Given the description of an element on the screen output the (x, y) to click on. 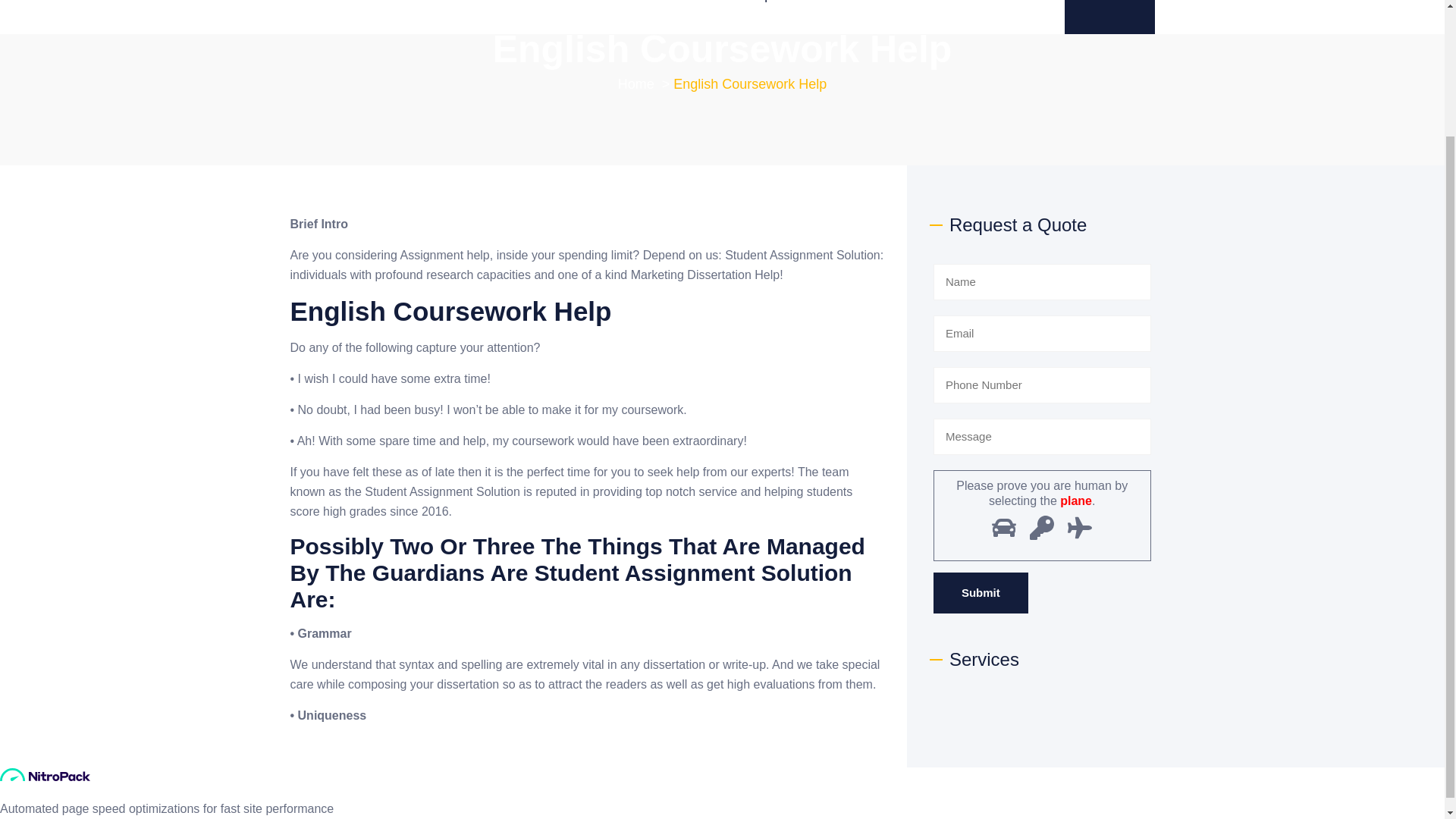
Home (609, 17)
Samples (762, 17)
Countries (846, 17)
Services (682, 17)
Submit (980, 592)
